Given the description of an element on the screen output the (x, y) to click on. 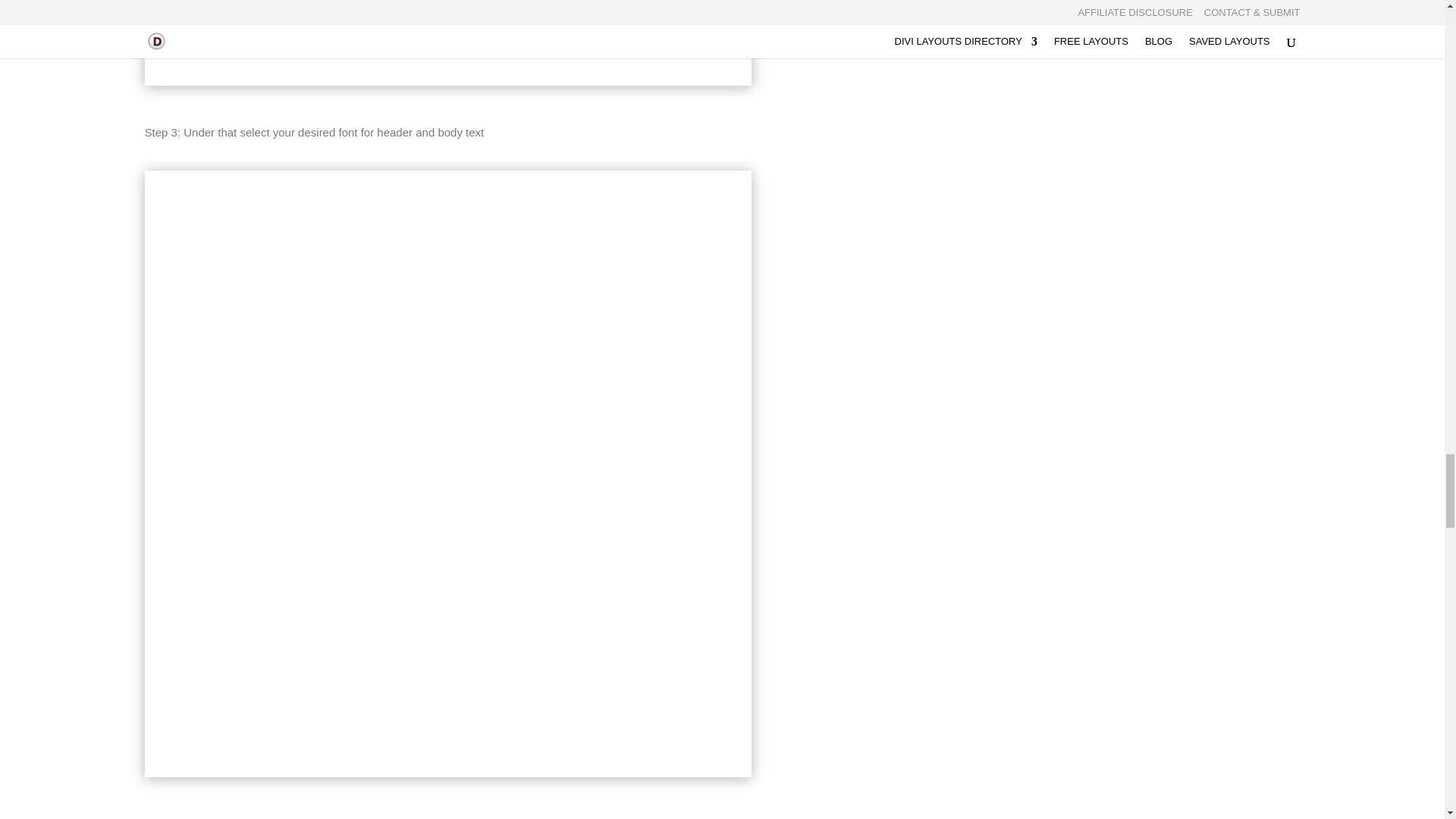
divi font settings (447, 42)
